Given the description of an element on the screen output the (x, y) to click on. 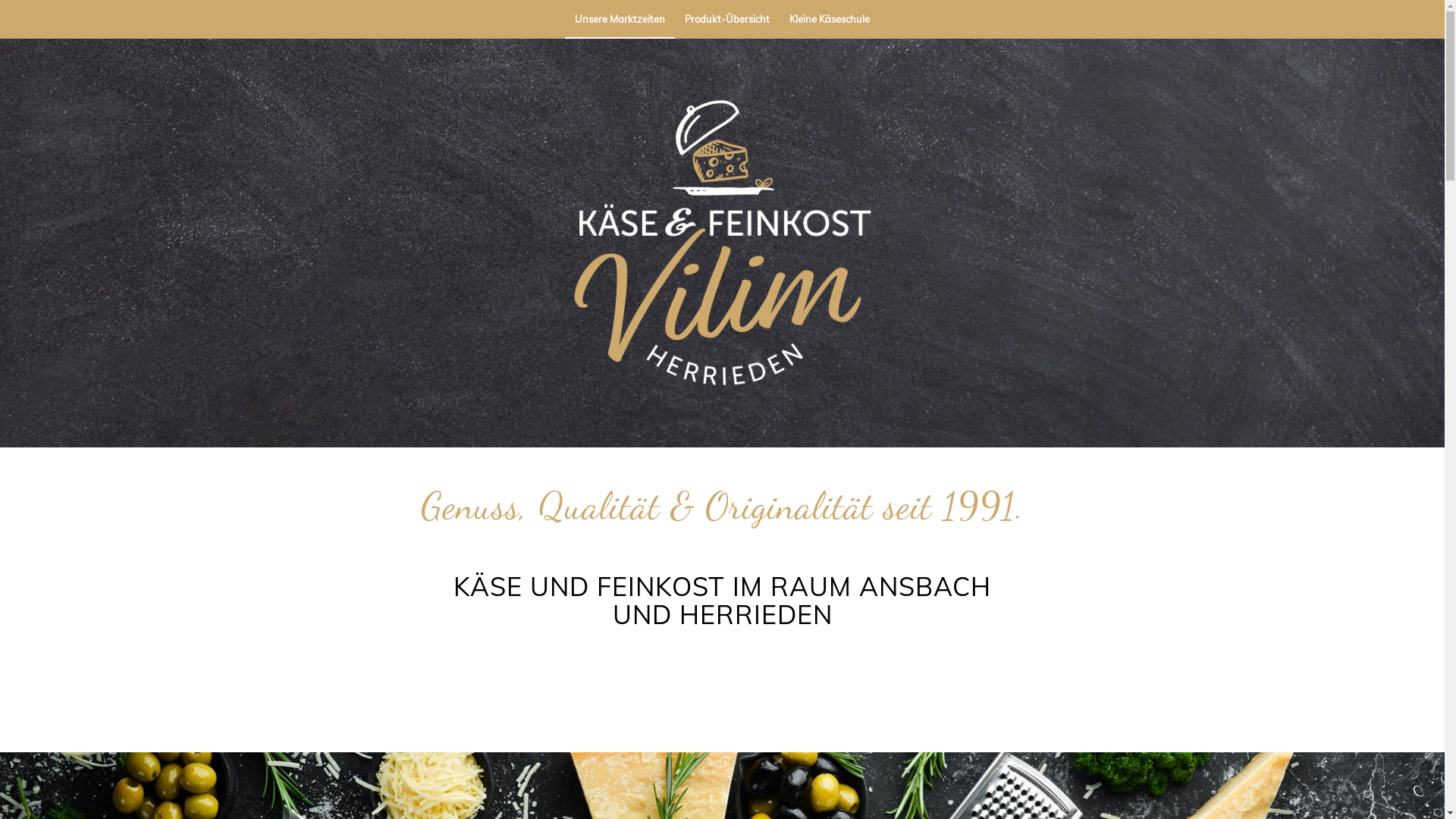
Unsere Marktzeiten Element type: text (619, 18)
vilim_logo_transparent Element type: hover (721, 242)
